Given the description of an element on the screen output the (x, y) to click on. 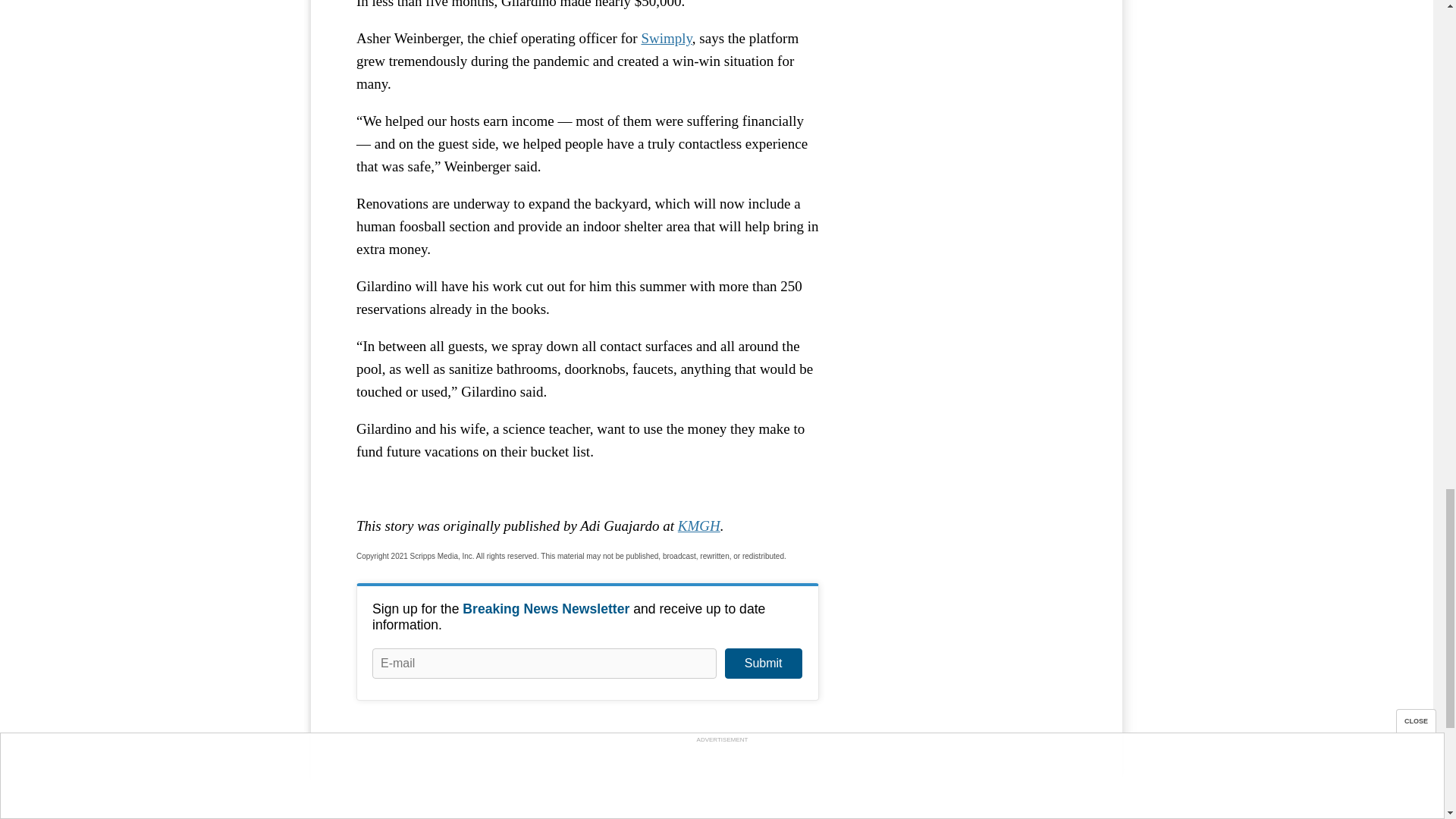
Submit (763, 663)
